Given the description of an element on the screen output the (x, y) to click on. 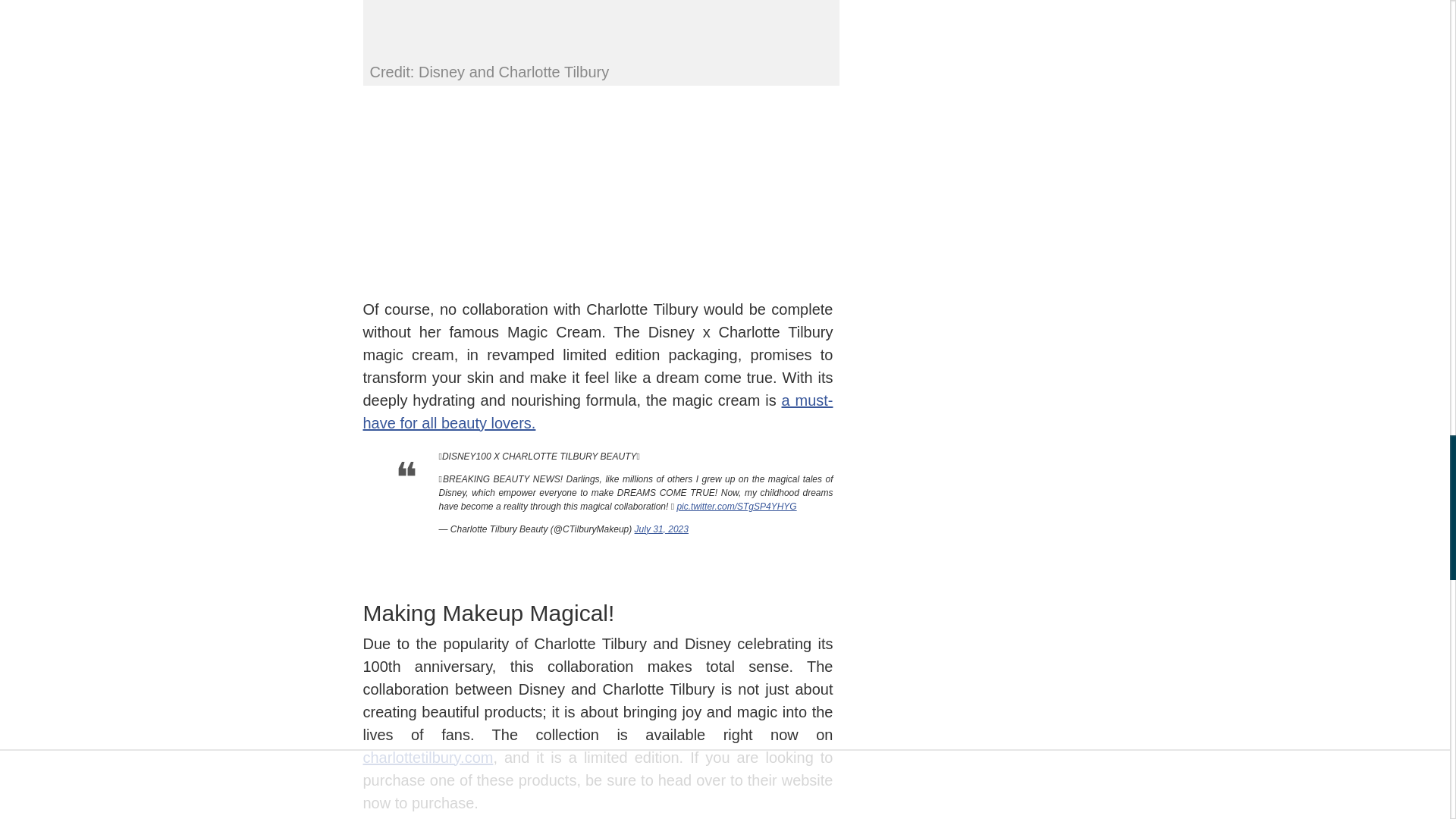
charlottetilbury.com (427, 757)
a must-have for all beauty lovers. (597, 410)
July 31, 2023 (661, 528)
